Given the description of an element on the screen output the (x, y) to click on. 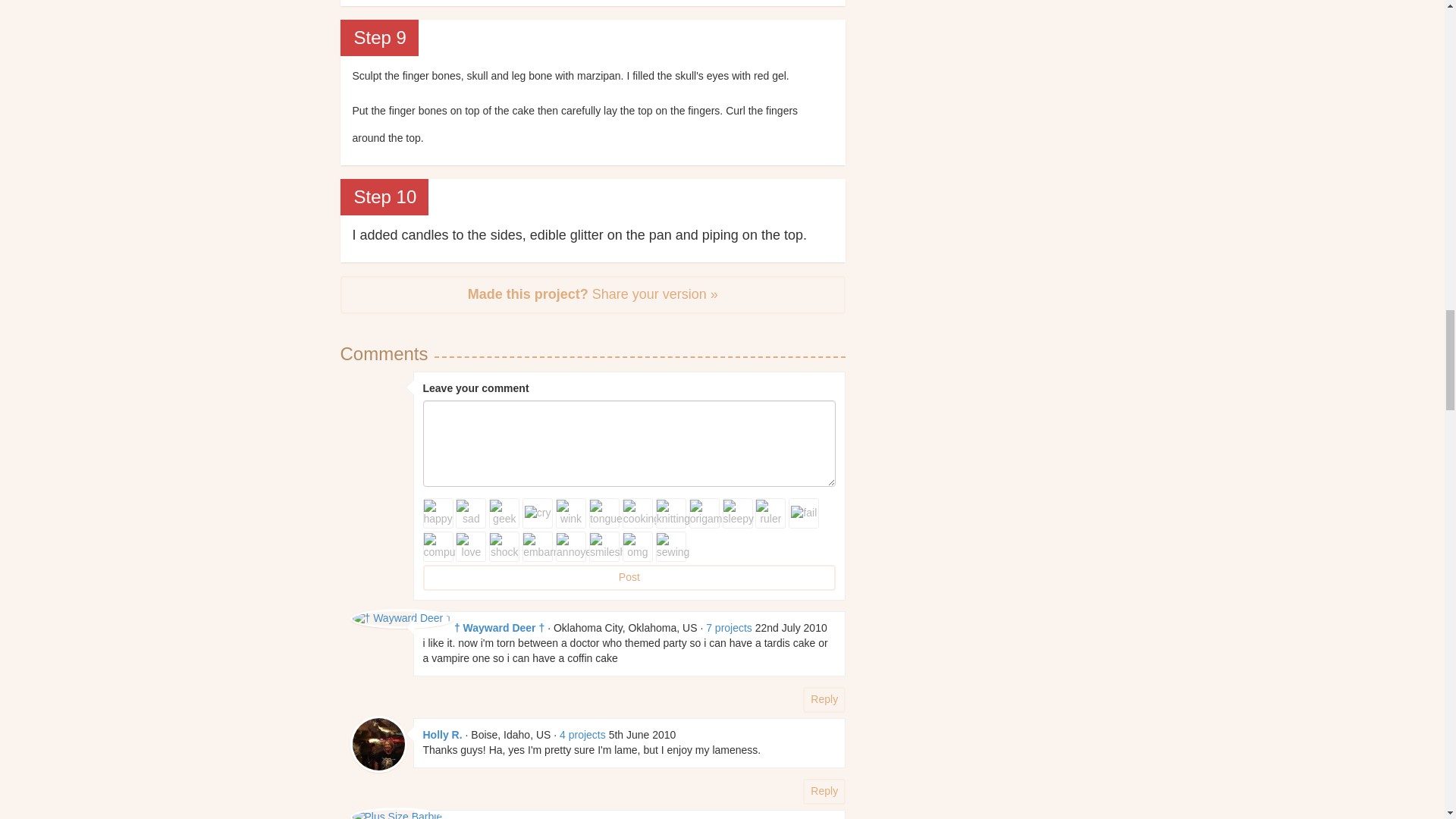
Post (629, 577)
